Given the description of an element on the screen output the (x, y) to click on. 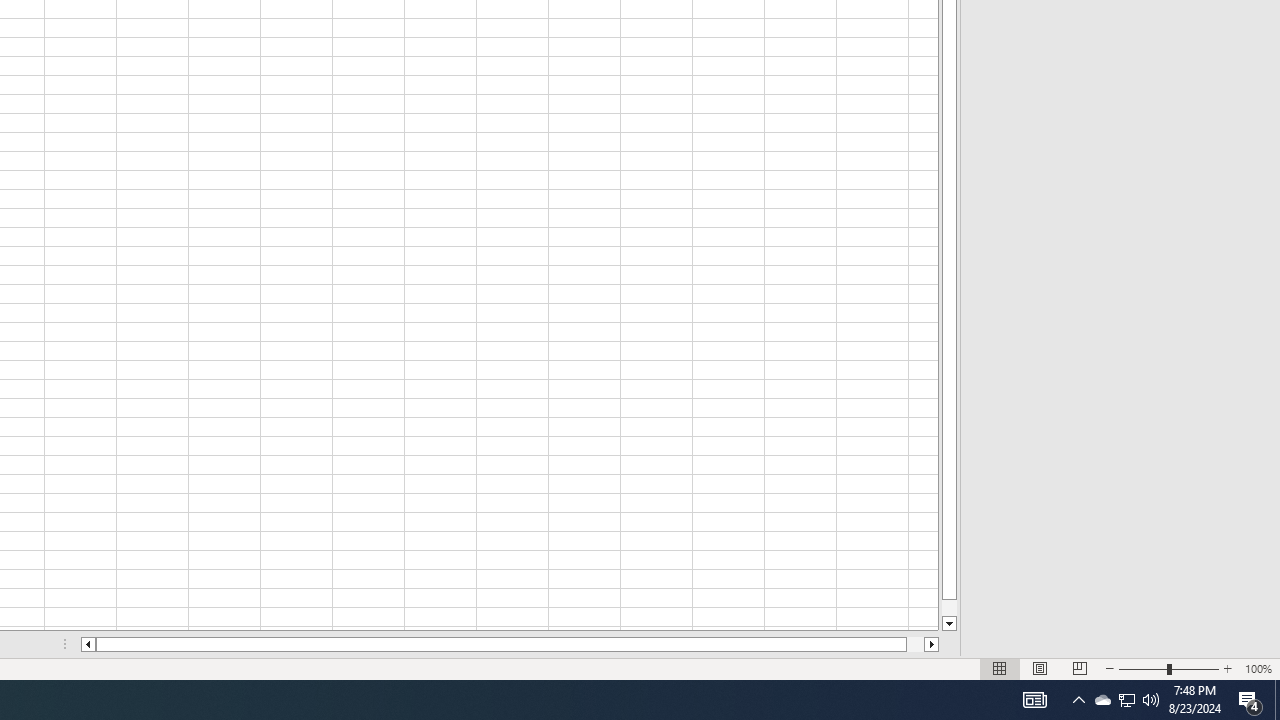
Page down (948, 607)
Page right (915, 644)
